Given the description of an element on the screen output the (x, y) to click on. 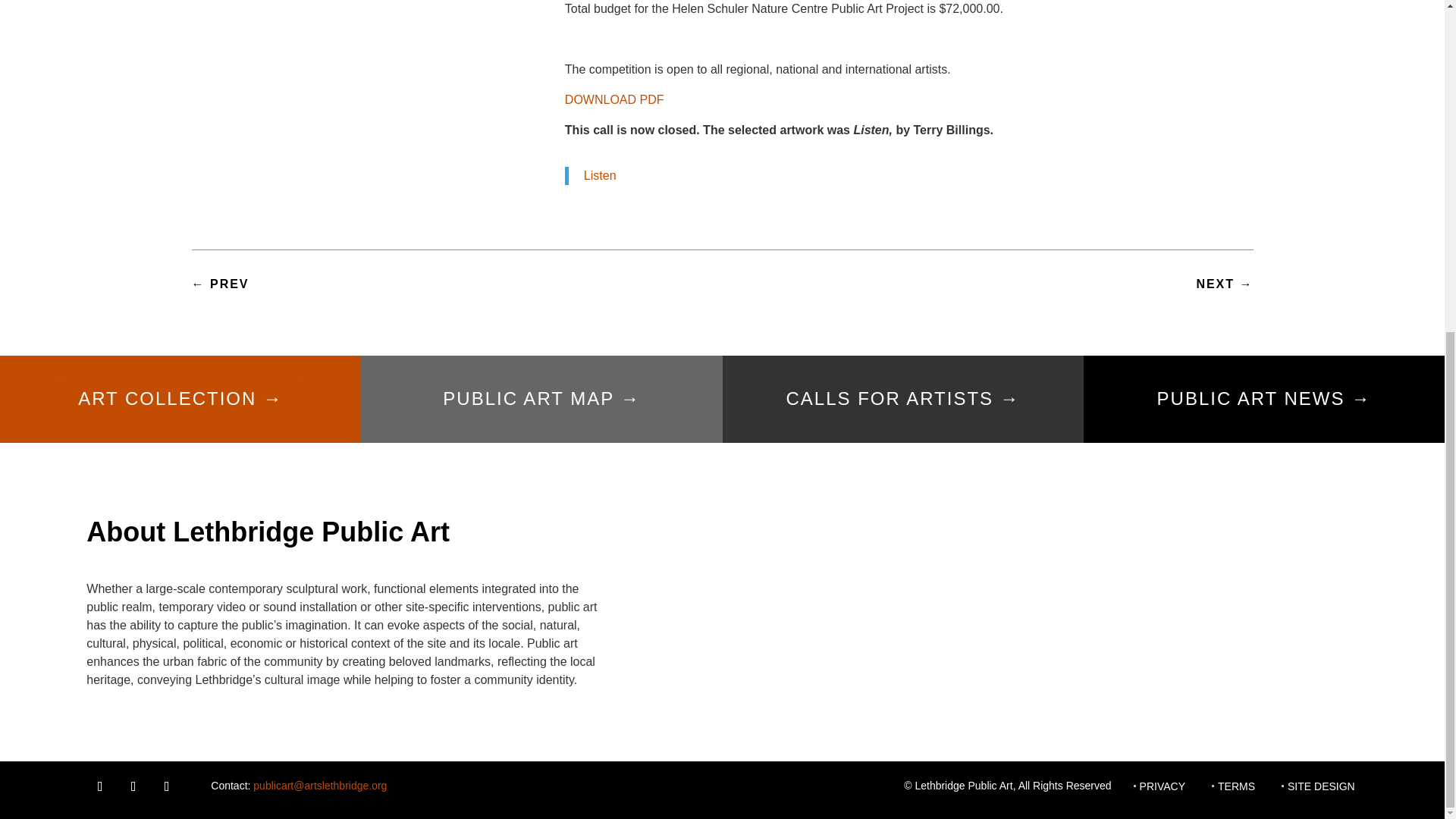
DOWNLOAD PDF  (615, 99)
Lethbridge Public Art (962, 785)
Follow on Youtube (166, 786)
TERMS (1236, 789)
SITE DESIGN (1321, 789)
Follow on Instagram (133, 786)
Listen (599, 174)
PRIVACY (1162, 789)
Follow on Facebook (99, 786)
